Given the description of an element on the screen output the (x, y) to click on. 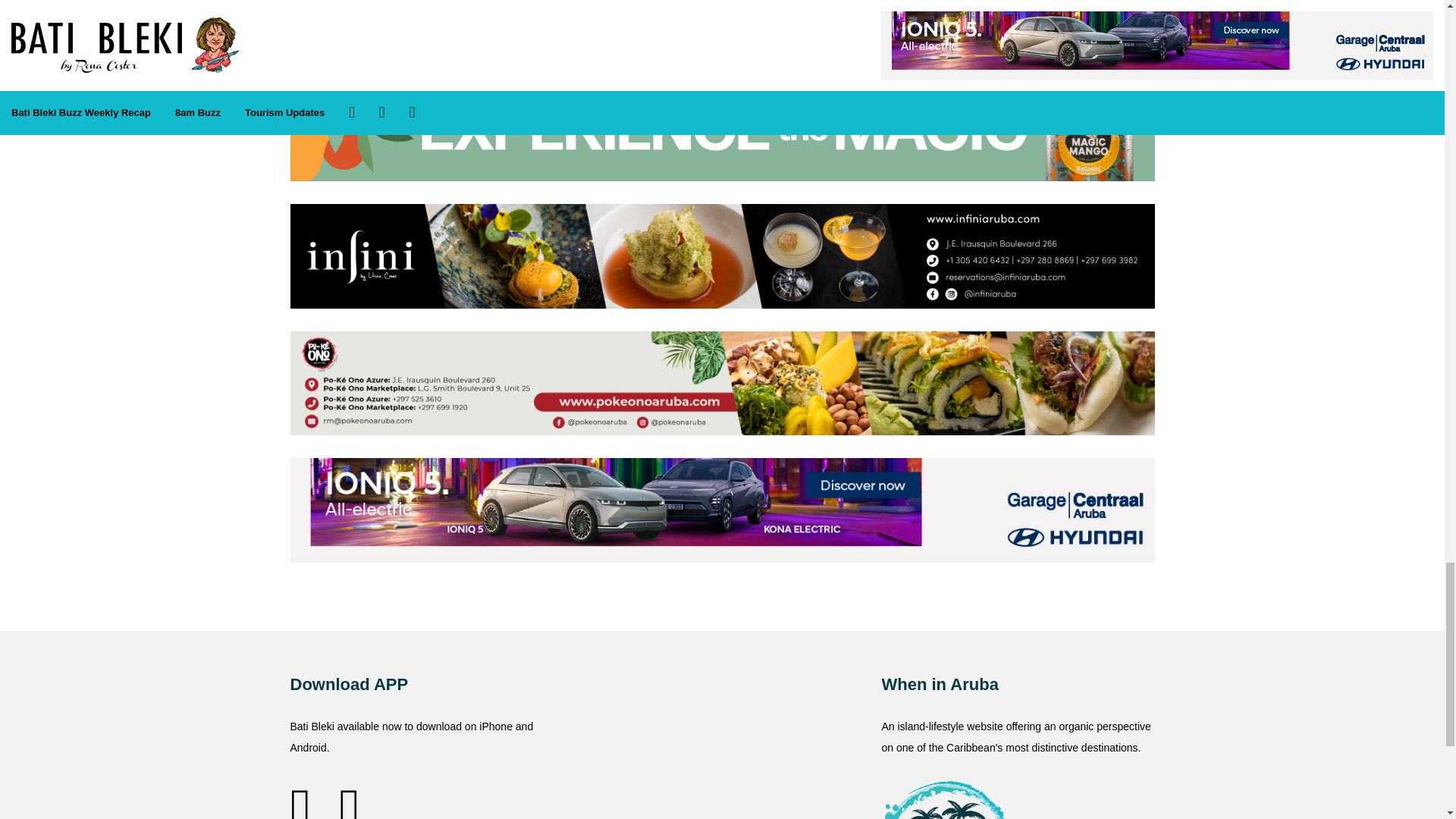
Go to Google Play (349, 797)
Go to App Store (308, 797)
